Given the description of an element on the screen output the (x, y) to click on. 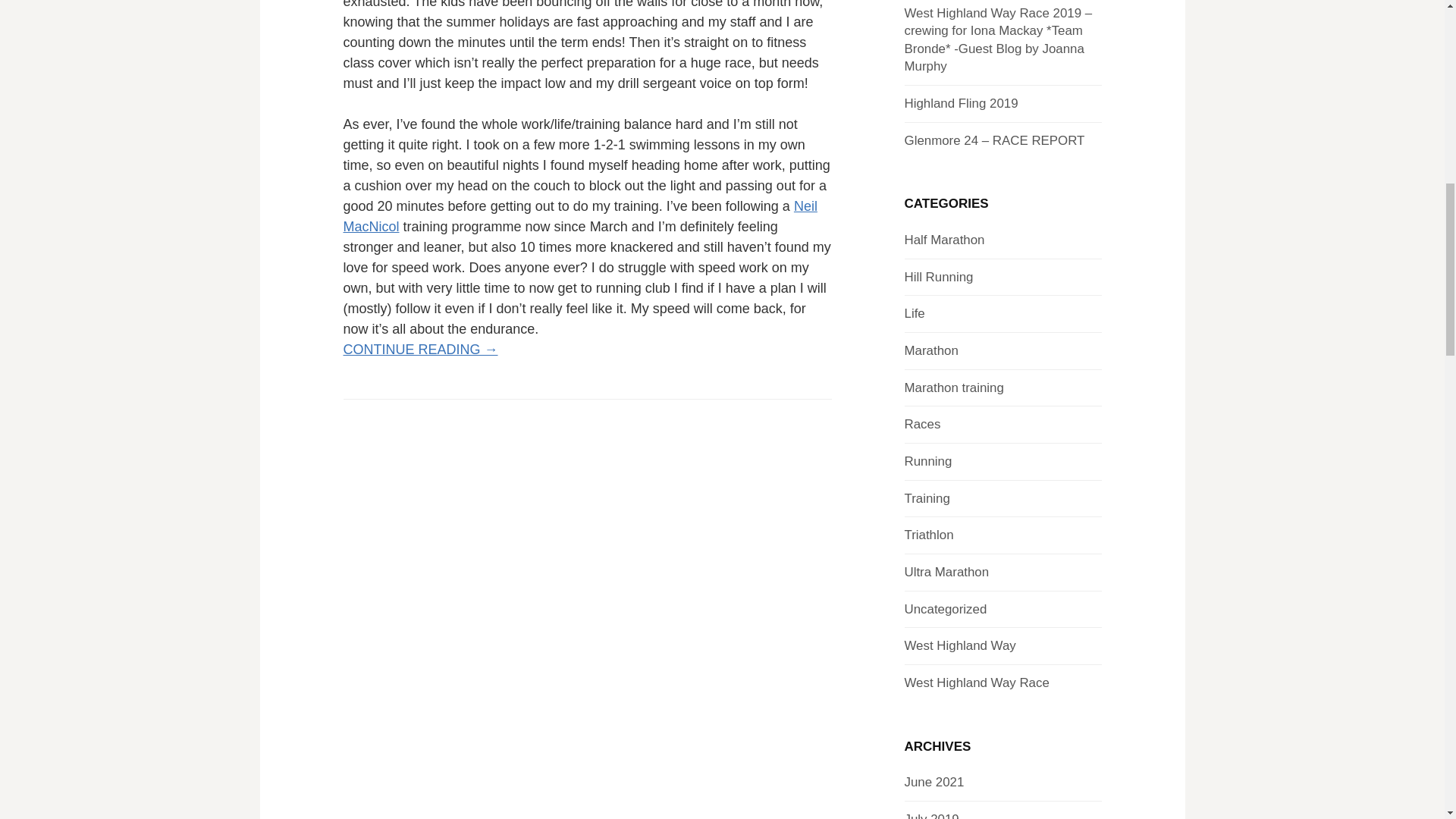
Training (926, 498)
Races (922, 423)
Half Marathon (944, 239)
Marathon training (953, 387)
Marathon (931, 350)
Neil MacNicol (579, 216)
Running (928, 461)
Highland Fling 2019 (960, 103)
Hill Running (938, 277)
Triathlon (928, 534)
